Given the description of an element on the screen output the (x, y) to click on. 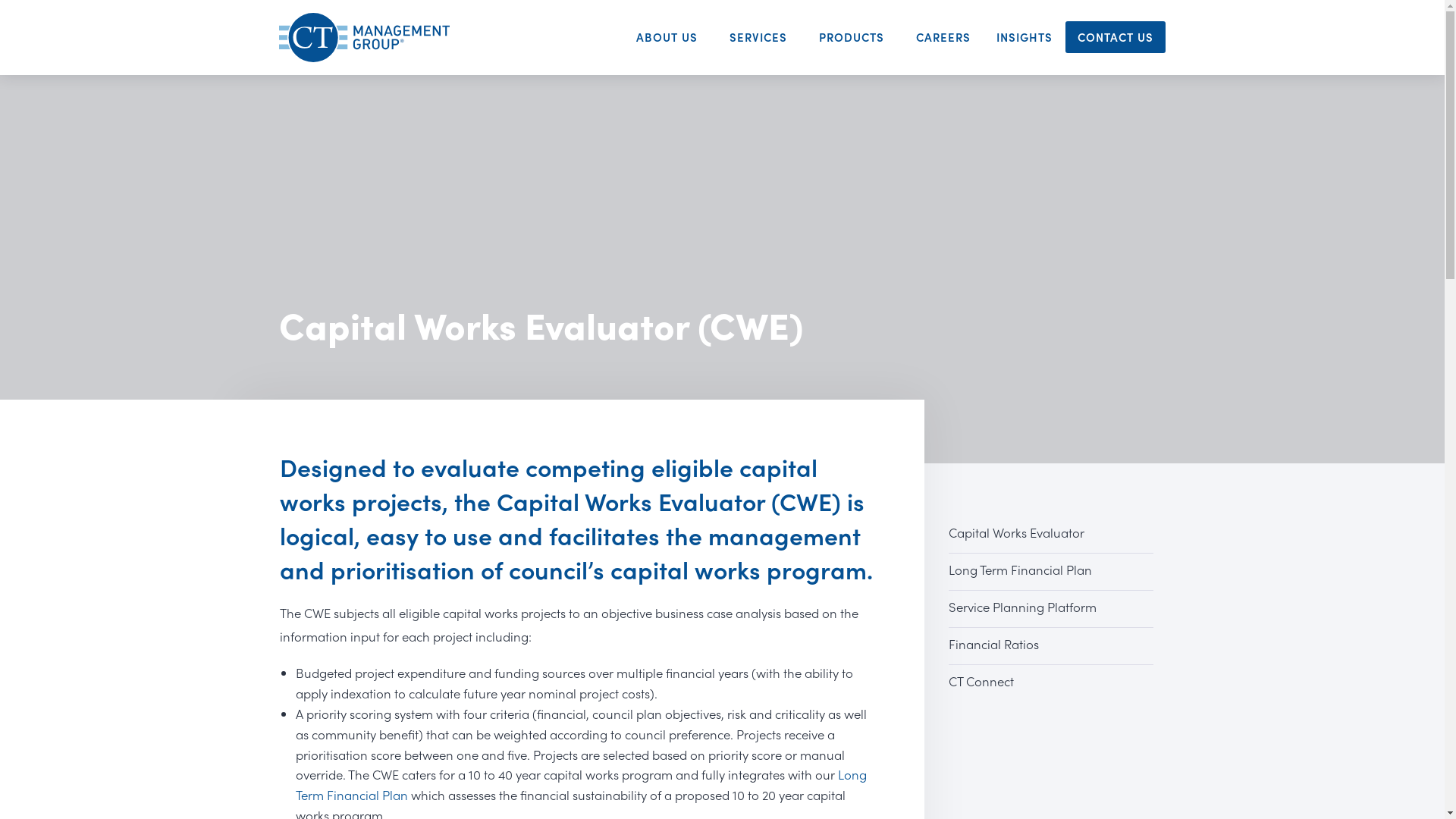
CT Connect Element type: text (1050, 683)
Long Term Financial Plan Element type: text (1050, 571)
SERVICES Element type: text (761, 37)
PRODUCTS Element type: text (854, 37)
Long Term Financial Plan Element type: text (580, 784)
CAREERS Element type: text (943, 37)
ABOUT US Element type: text (670, 37)
Financial Ratios Element type: text (1050, 645)
Service Planning Platform Element type: text (1050, 608)
INSIGHTS Element type: text (1024, 37)
Capital Works Evaluator Element type: text (1050, 534)
CONTACT US Element type: text (1115, 37)
